Given the description of an element on the screen output the (x, y) to click on. 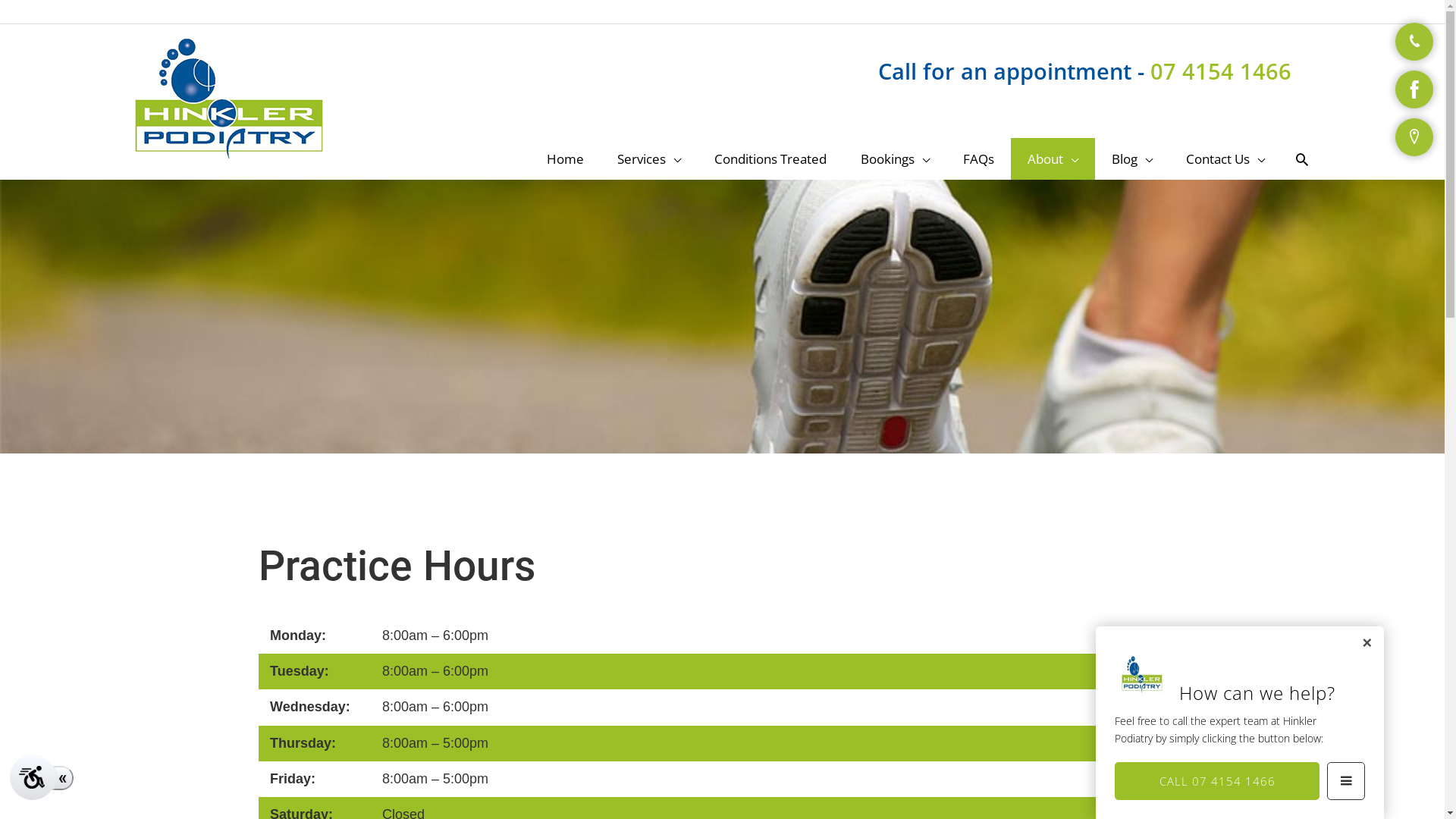
FAQs Element type: text (978, 158)
Search Element type: text (1301, 158)
Bookings Element type: text (895, 158)
About Element type: text (1052, 158)
Conditions Treated Element type: text (770, 158)
Home Element type: text (565, 158)
Services Element type: text (648, 158)
Contact Us Element type: text (1225, 158)
Blog Element type: text (1132, 158)
CALL 07 4154 1466 Element type: text (1216, 781)
